Given the description of an element on the screen output the (x, y) to click on. 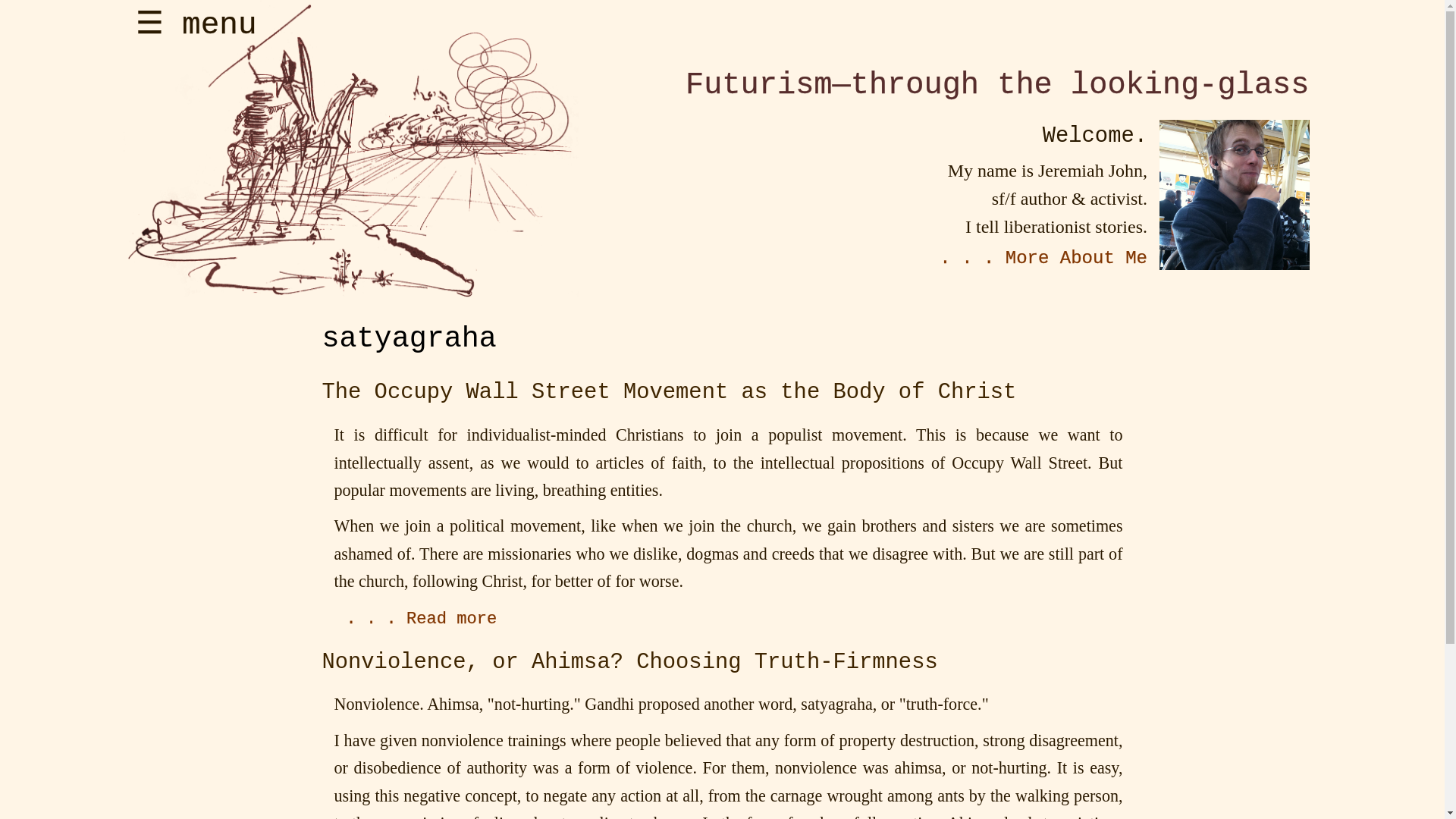
The Occupy Wall Street Movement as the Body of Christ (421, 618)
Nonviolence, or Ahimsa? Choosing Truth-Firmness (629, 662)
The Occupy Wall Street Movement as the Body of Christ (668, 392)
. . . More About Me (1043, 258)
